Given the description of an element on the screen output the (x, y) to click on. 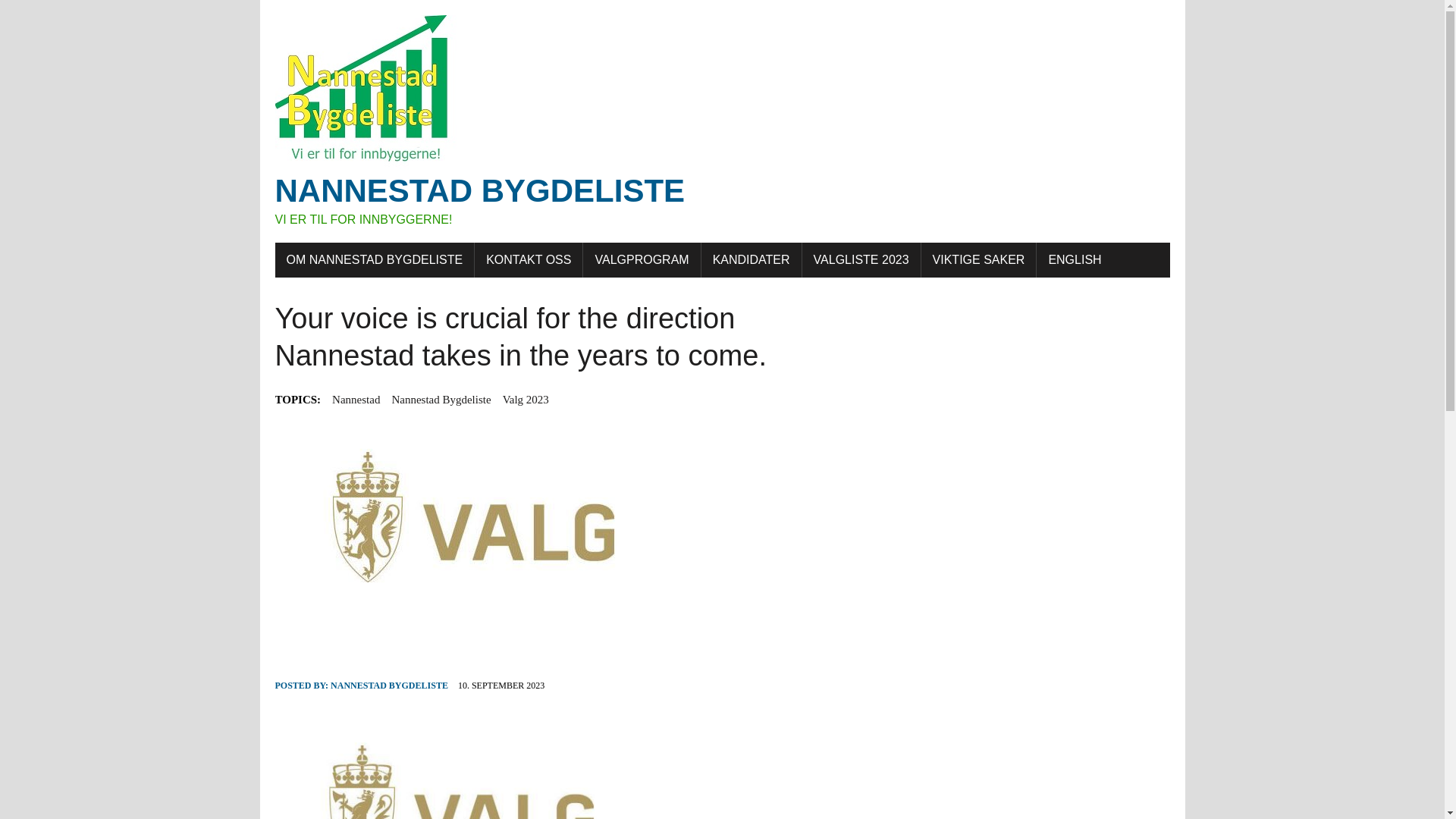
NANNESTAD BYGDELISTE (389, 685)
KANDIDATER (751, 259)
Nannestad (355, 399)
VALGPROGRAM (641, 259)
OM NANNESTAD BYGDELISTE (374, 259)
ENGLISH (861, 259)
KONTAKT OSS (1074, 259)
Nannestad Bygdeliste (528, 259)
Valg 2023 (440, 399)
VIKTIGE SAKER (525, 399)
